Given the description of an element on the screen output the (x, y) to click on. 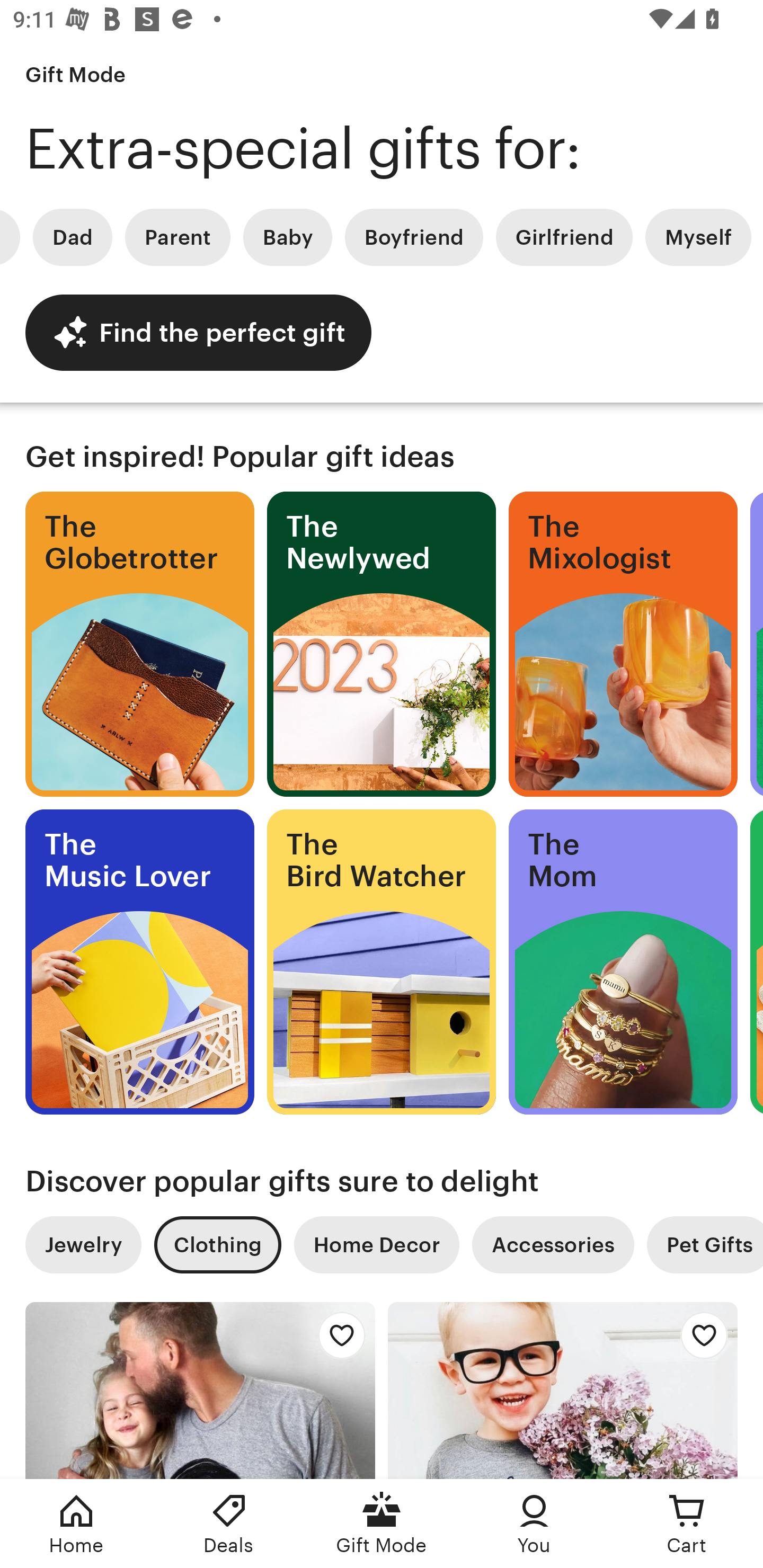
Dad (72, 237)
Parent (177, 237)
Baby (287, 237)
Boyfriend (413, 237)
Girlfriend (563, 237)
Myself (698, 237)
Find the perfect gift (198, 332)
The Globetrotter (139, 644)
The Newlywed (381, 644)
The Mixologist (622, 644)
The Music Lover (139, 961)
The Bird Watcher (381, 961)
The Mom (622, 961)
Jewelry (83, 1244)
Clothing (217, 1244)
Home Decor (376, 1244)
Accessories (553, 1244)
Pet Gifts (705, 1244)
Home (76, 1523)
Deals (228, 1523)
You (533, 1523)
Cart (686, 1523)
